Given the description of an element on the screen output the (x, y) to click on. 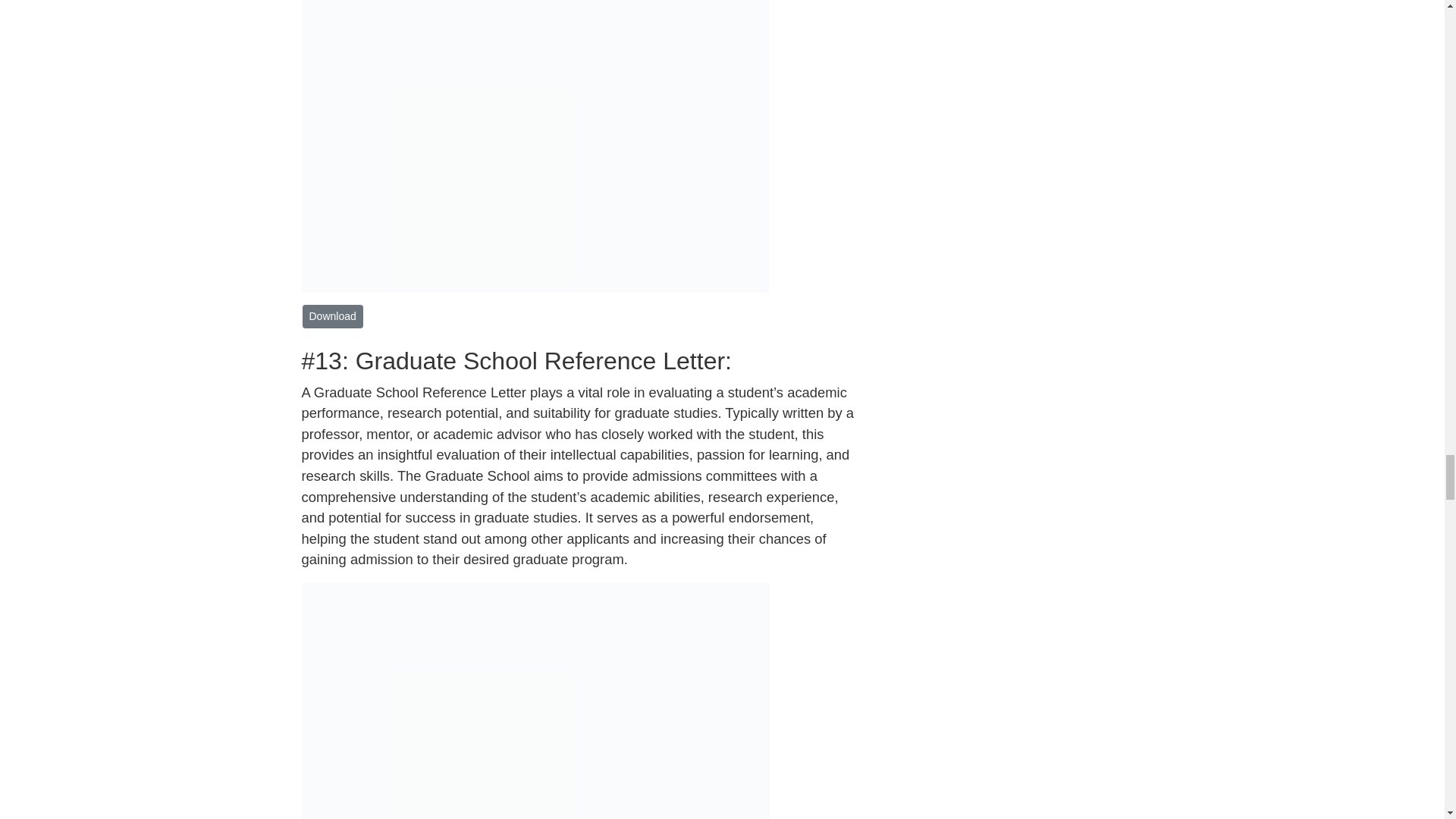
Download (331, 316)
